Given the description of an element on the screen output the (x, y) to click on. 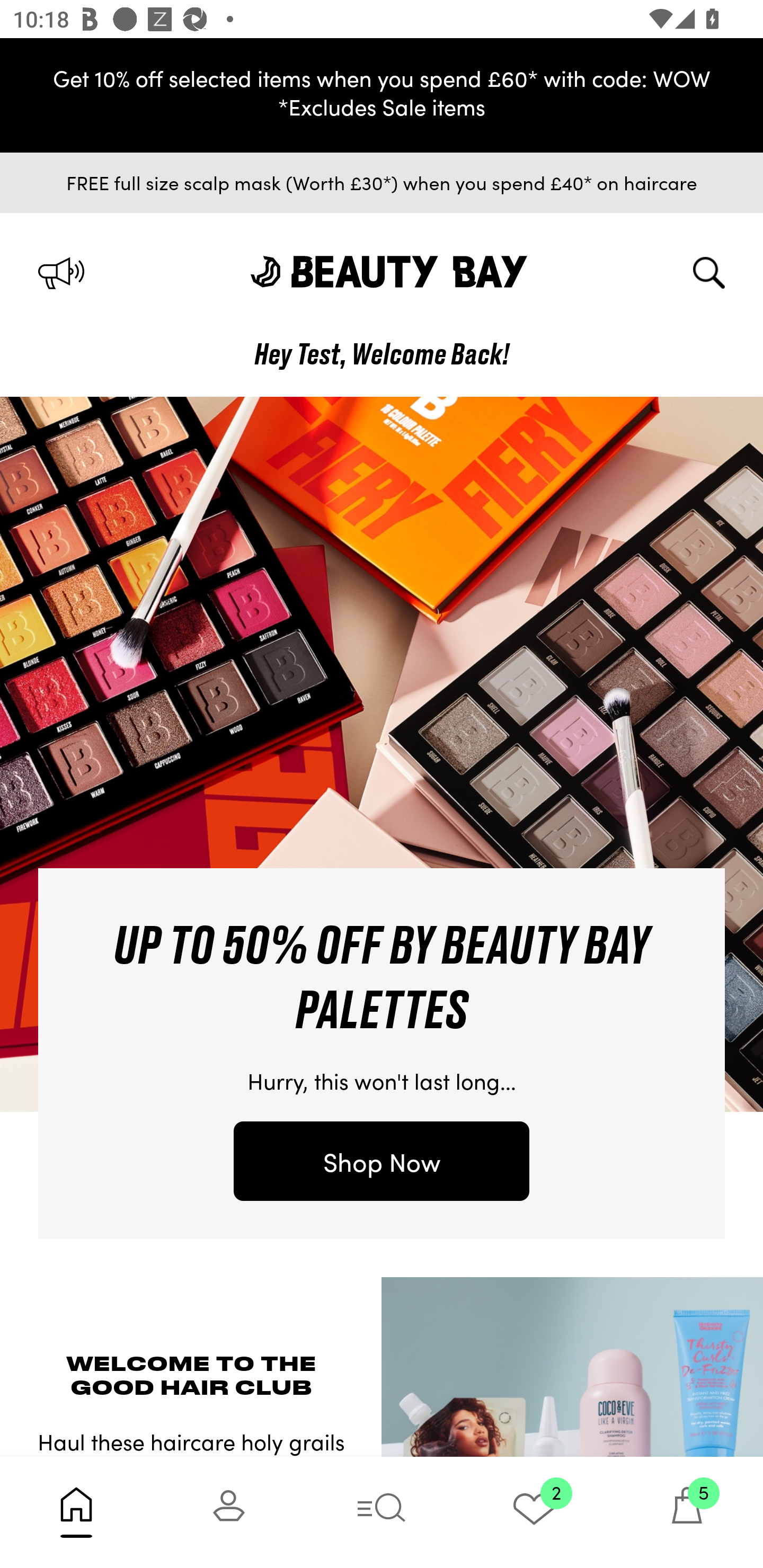
2 (533, 1512)
5 (686, 1512)
